Given the description of an element on the screen output the (x, y) to click on. 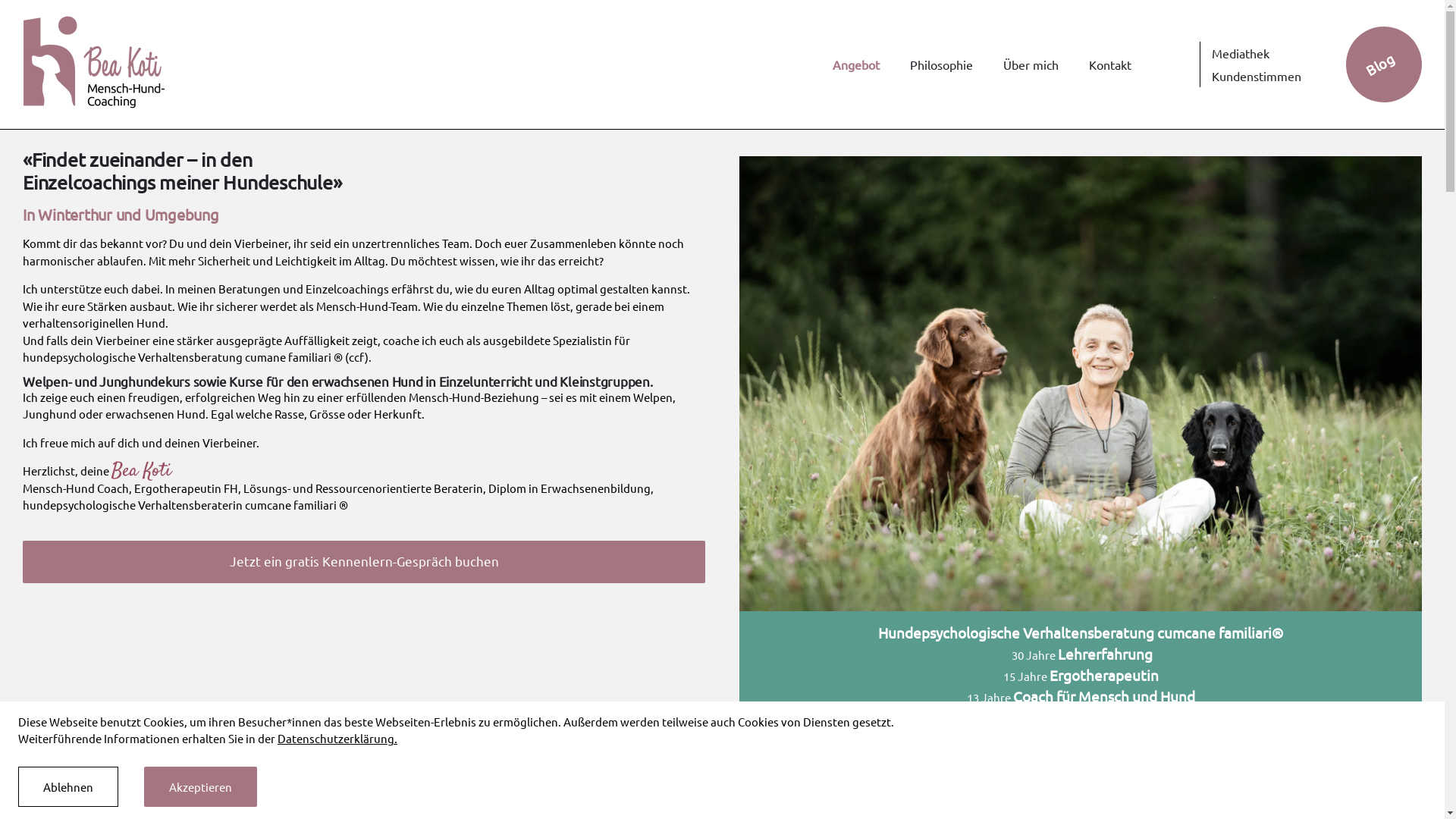
Blog Element type: text (1370, 50)
Angebot Element type: text (859, 64)
Akzeptieren Element type: text (200, 786)
15 Jahre Ergotherapeutin Element type: text (1079, 675)
Ablehnen Element type: text (68, 786)
Kundenstimmen Element type: text (1259, 75)
Philosophie Element type: text (945, 64)
Mediathek Element type: text (1259, 52)
Kontakt Element type: text (1113, 64)
30 Jahre Lehrerfahrung Element type: text (1081, 654)
